Given the description of an element on the screen output the (x, y) to click on. 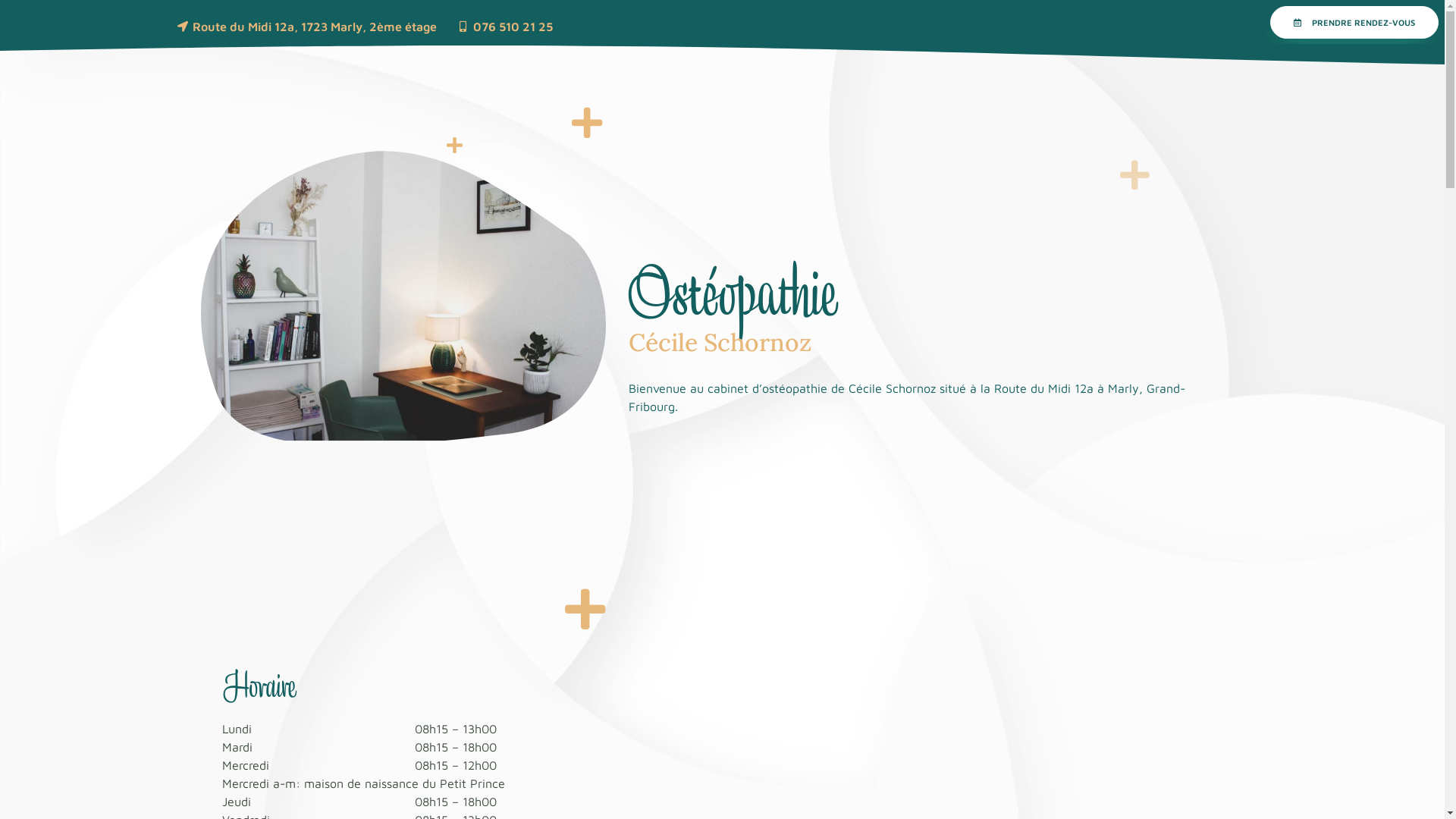
PRENDRE RENDEZ-VOUS Element type: text (1354, 22)
